Given the description of an element on the screen output the (x, y) to click on. 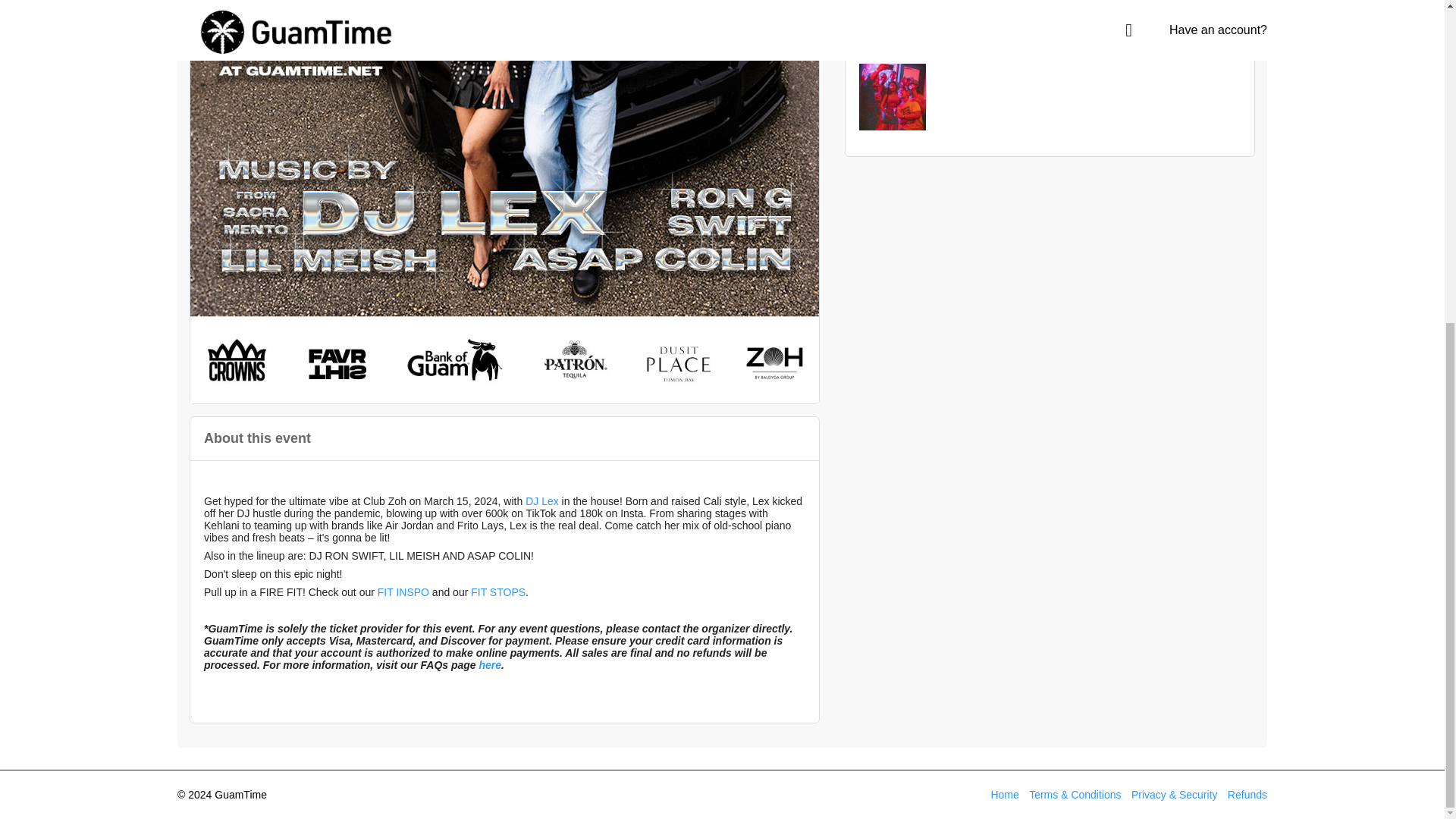
FIT INSPO (403, 592)
FIT STOPS (497, 592)
here (490, 664)
Refunds (1246, 794)
Home (1003, 794)
DJ Lex (542, 500)
